Given the description of an element on the screen output the (x, y) to click on. 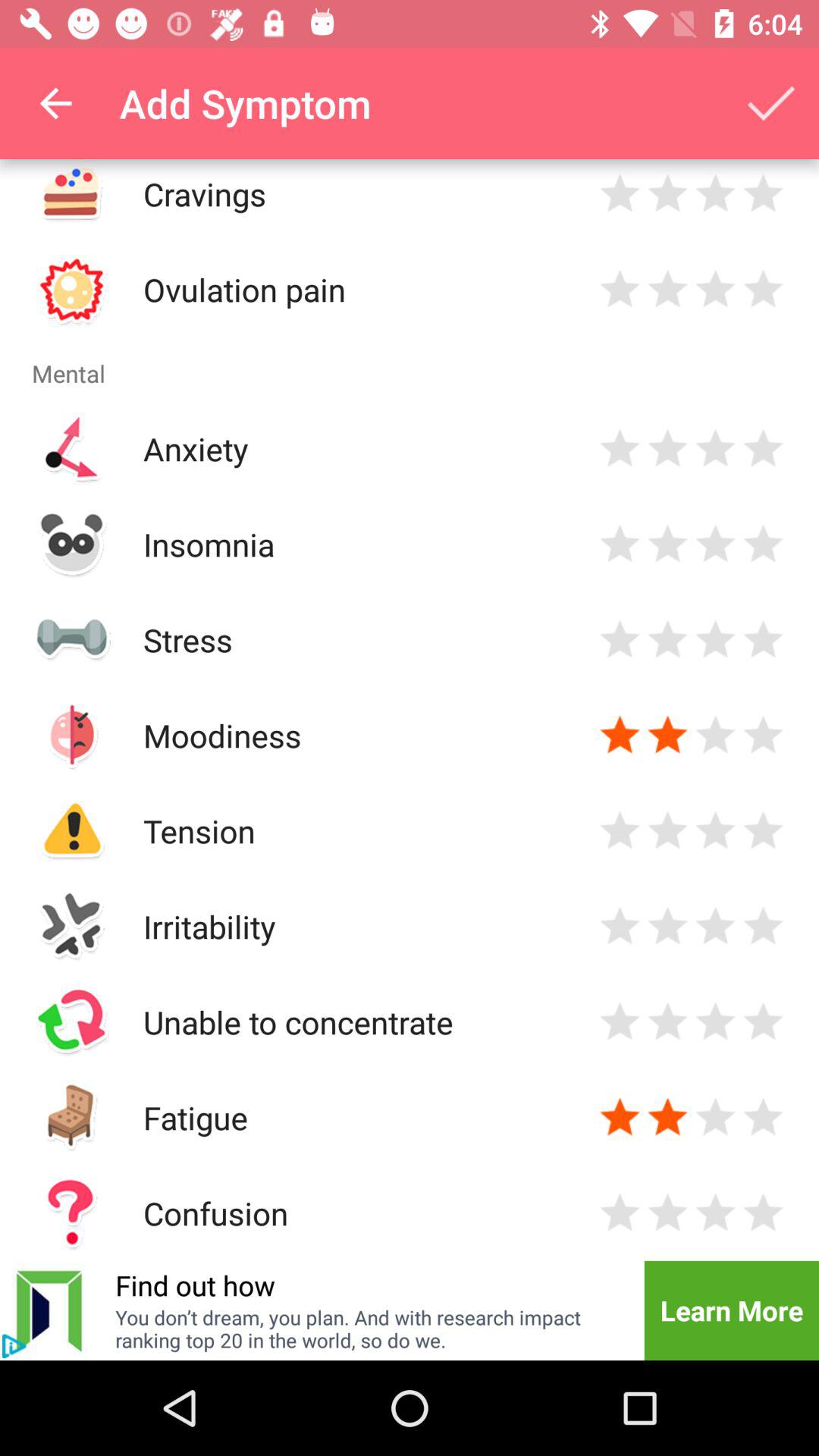
rate 1 star (619, 1021)
